Given the description of an element on the screen output the (x, y) to click on. 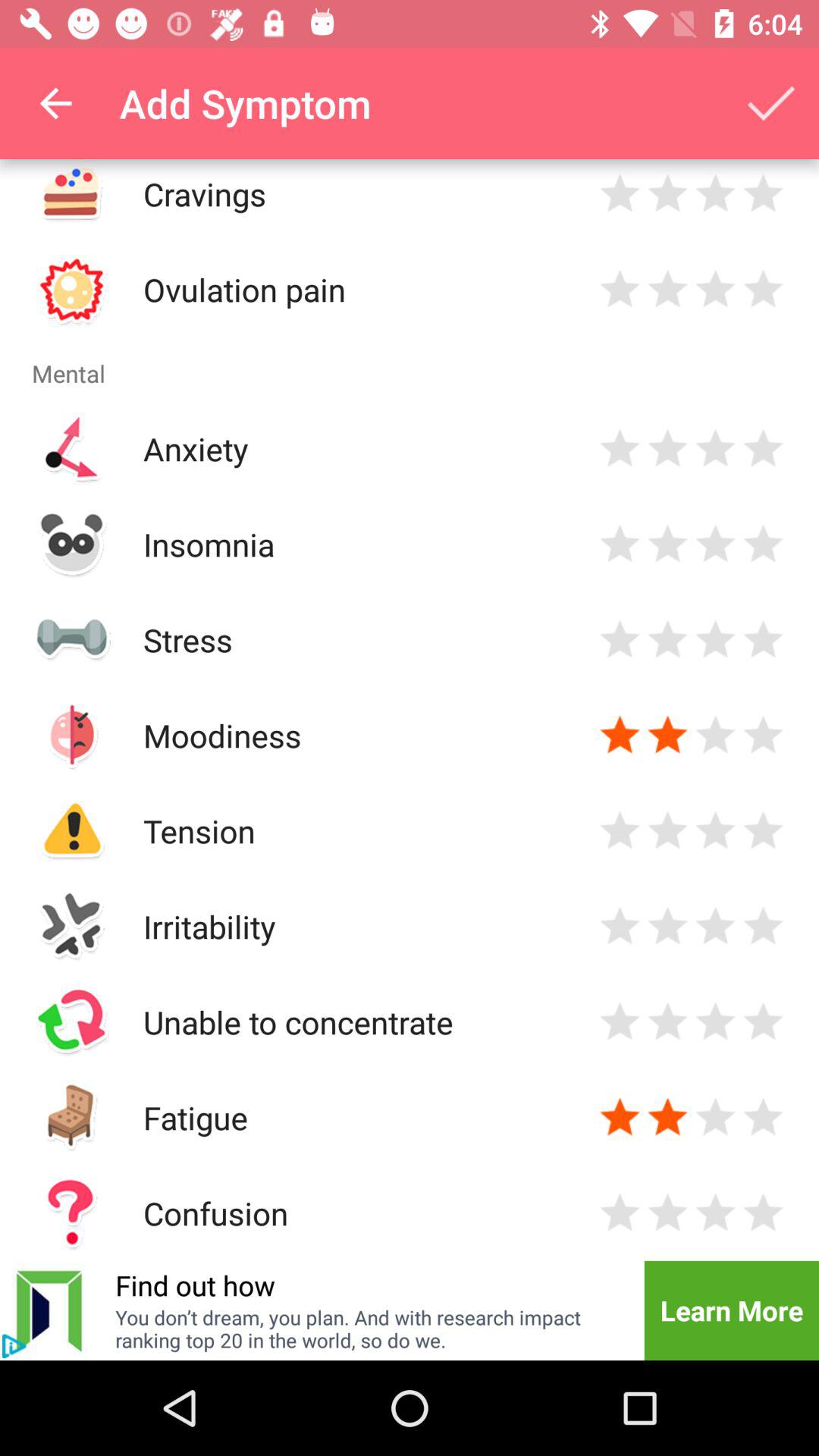
rate 1 star (619, 1021)
